Given the description of an element on the screen output the (x, y) to click on. 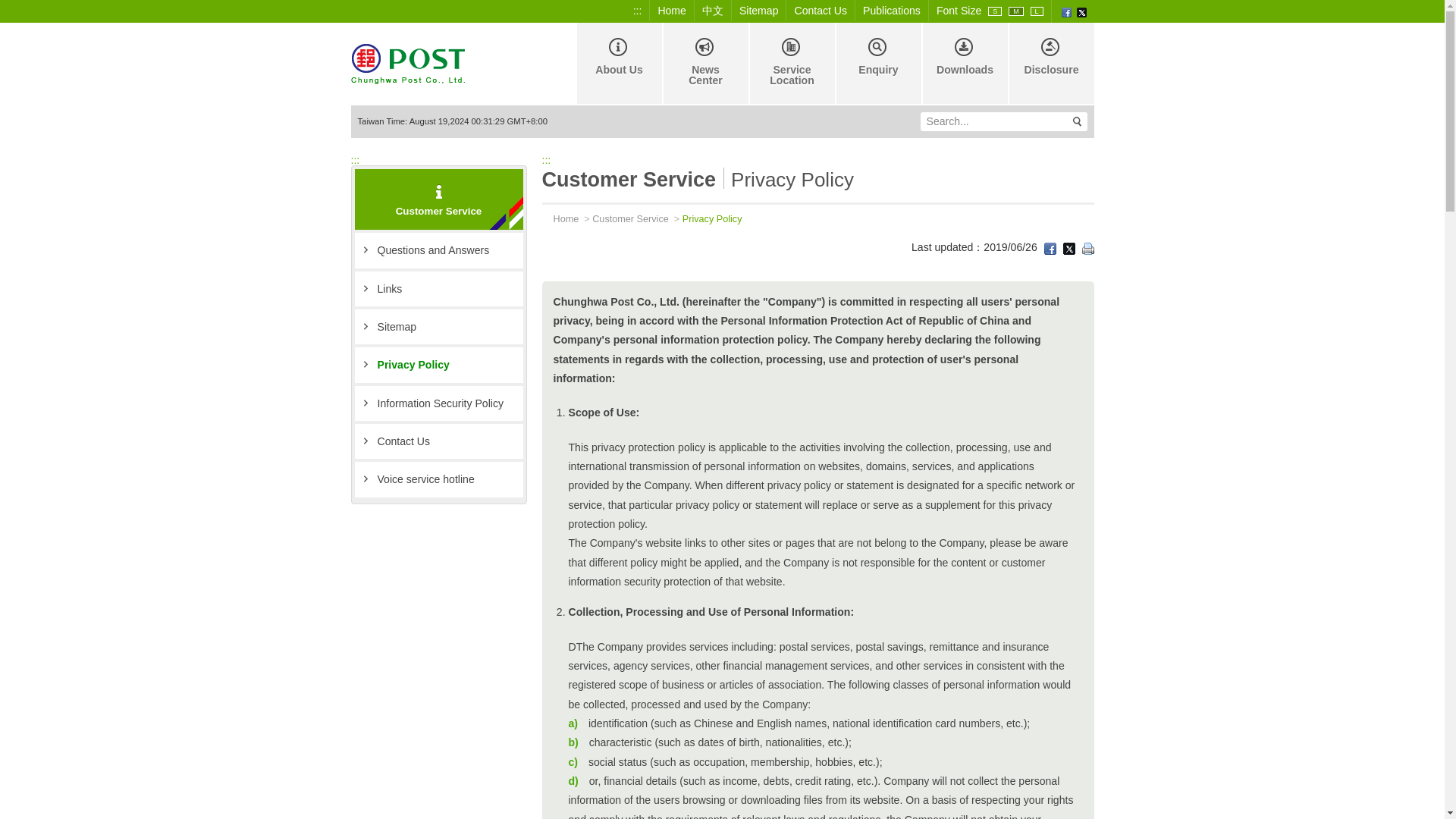
Publications (891, 10)
Disclosure (1050, 63)
::: (817, 159)
Small (994, 10)
Large (1036, 10)
About Us (618, 63)
Home (671, 10)
Questions and Answers (438, 249)
Back to Chunghwa Post homepage (407, 62)
Sitemap (438, 326)
